Given the description of an element on the screen output the (x, y) to click on. 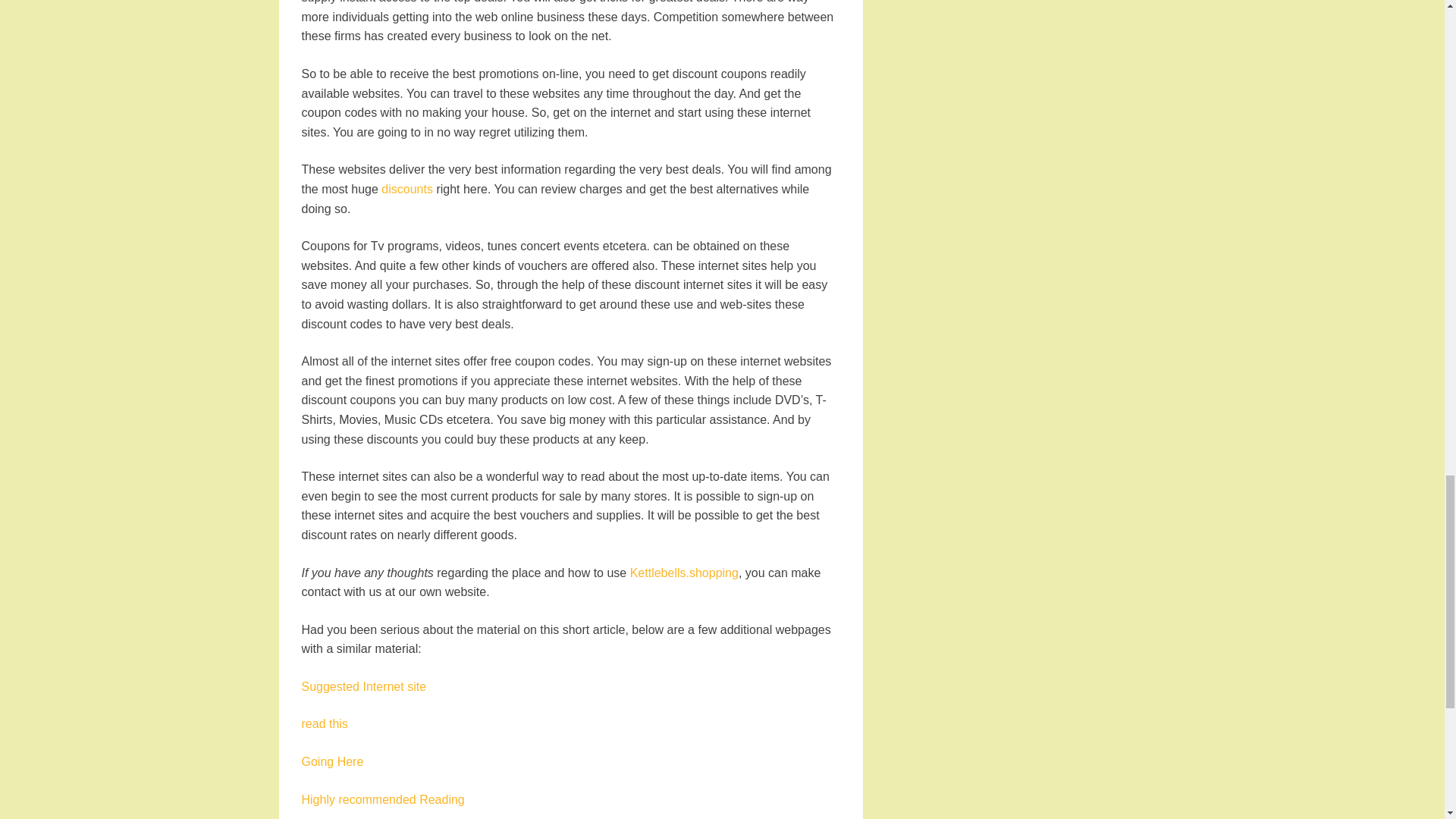
discounts (406, 188)
Kettlebells.shopping (684, 571)
Highly recommended Reading (382, 799)
Suggested Internet site (363, 686)
read this (324, 723)
Going Here (332, 761)
